Given the description of an element on the screen output the (x, y) to click on. 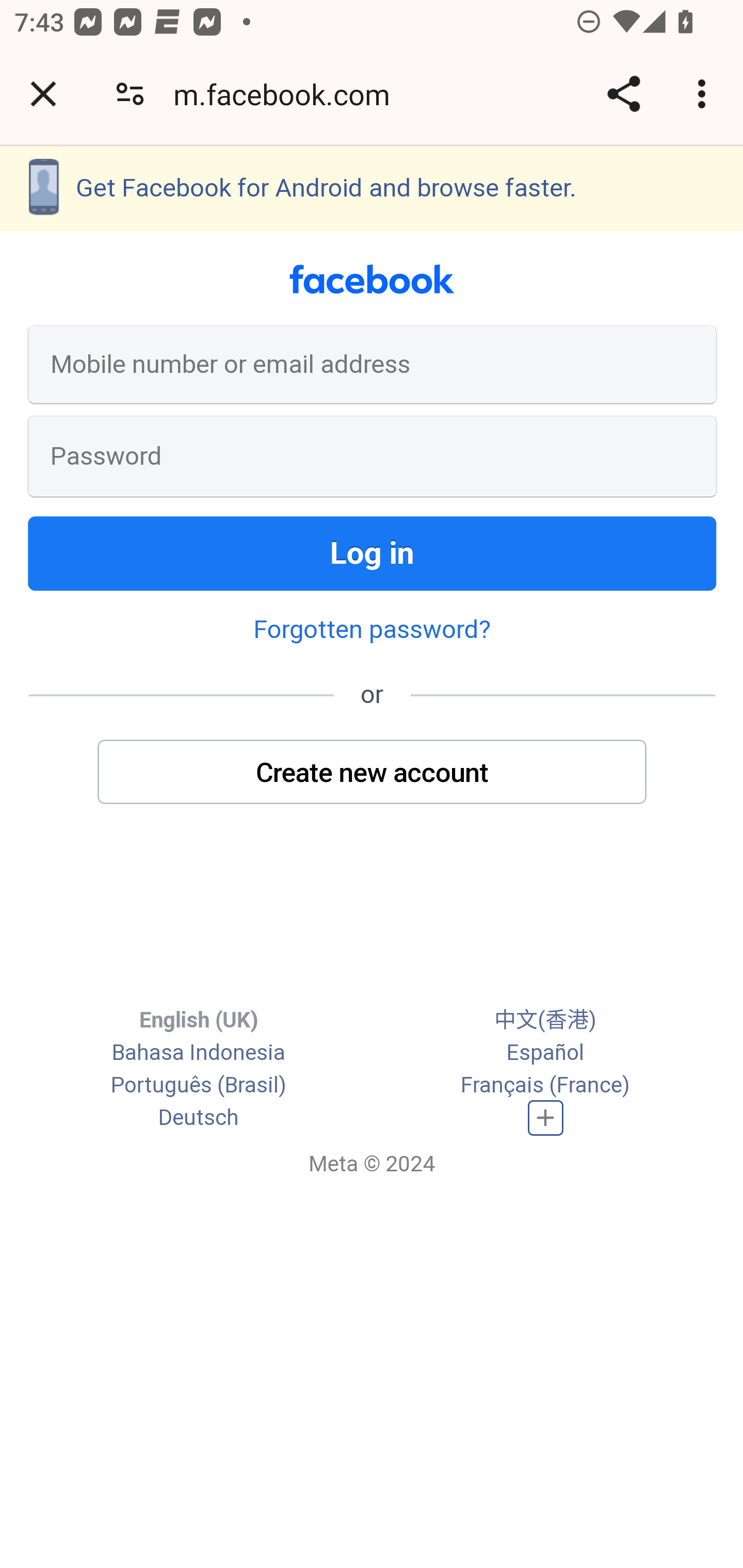
Close tab (43, 93)
Share (623, 93)
Customize and control Google Chrome (705, 93)
Connection is secure (129, 93)
m.facebook.com (288, 93)
Get Facebook for Android and browse faster. (371, 188)
facebook (372, 279)
Log in (372, 552)
Forgotten password? (371, 628)
Create new account (372, 771)
中文(香港) (544, 1019)
Bahasa Indonesia (198, 1052)
Español (545, 1052)
Português (Brasil) (197, 1083)
Français (France) (544, 1083)
Complete list of languages (545, 1117)
Deutsch (197, 1116)
